Given the description of an element on the screen output the (x, y) to click on. 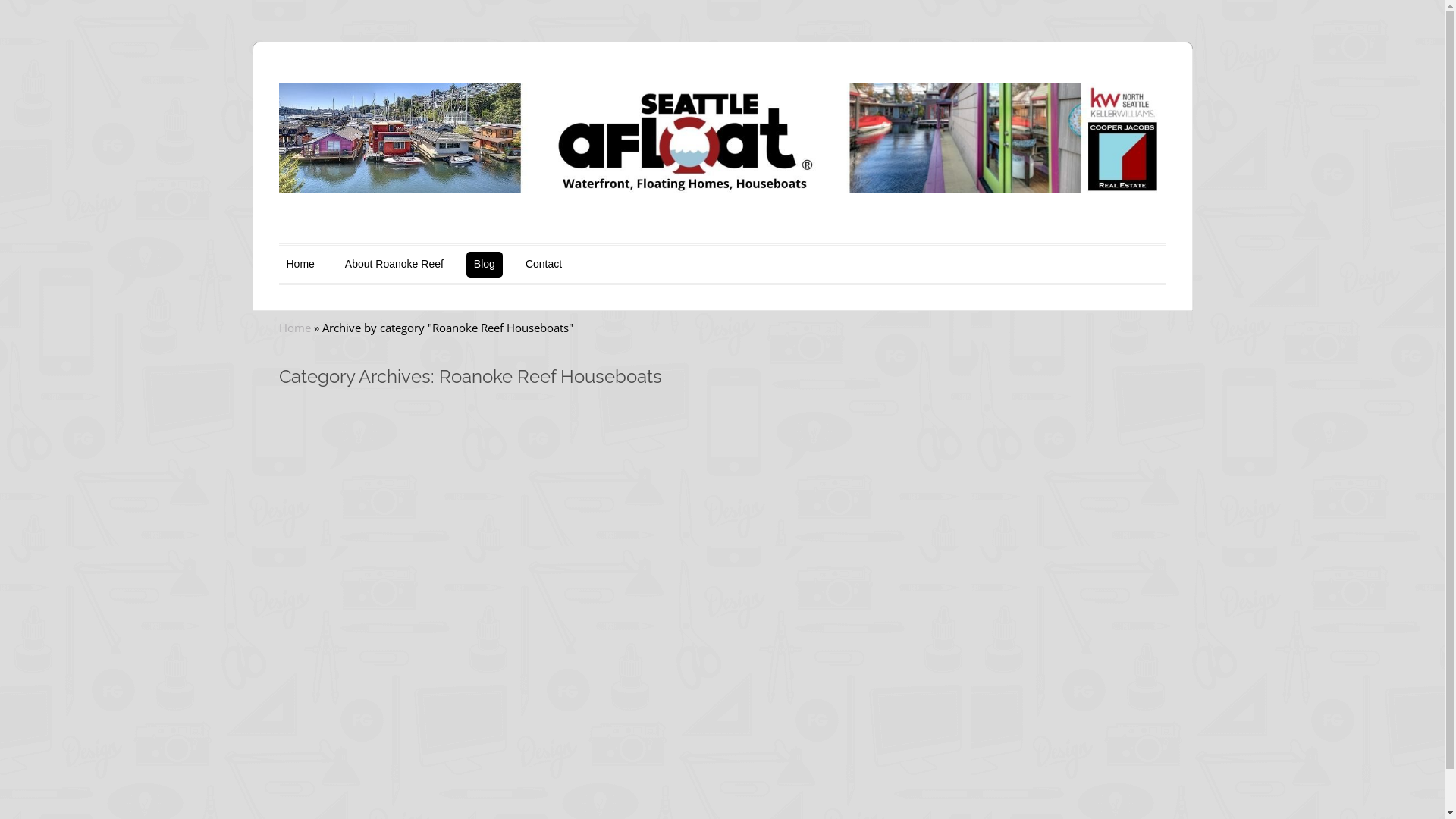
About Roanoke Reef Element type: text (394, 264)
Home Element type: text (300, 264)
Contact Element type: text (543, 264)
Home Element type: text (294, 327)
Blog Element type: text (484, 264)
